Given the description of an element on the screen output the (x, y) to click on. 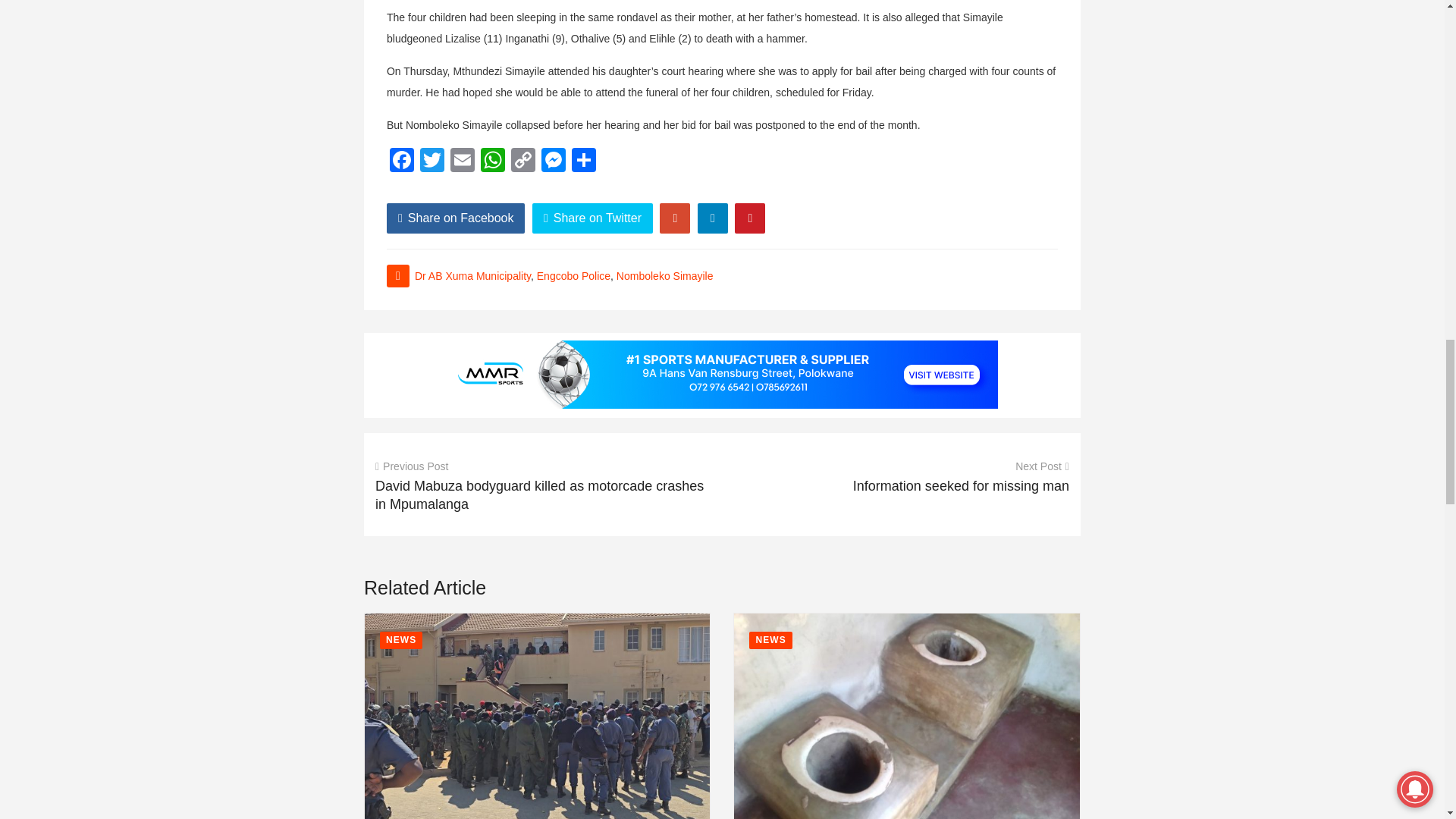
WhatsApp (492, 162)
Twitter (431, 162)
Messenger (553, 162)
Facebook (401, 162)
Email (461, 162)
Copy Link (523, 162)
